Given the description of an element on the screen output the (x, y) to click on. 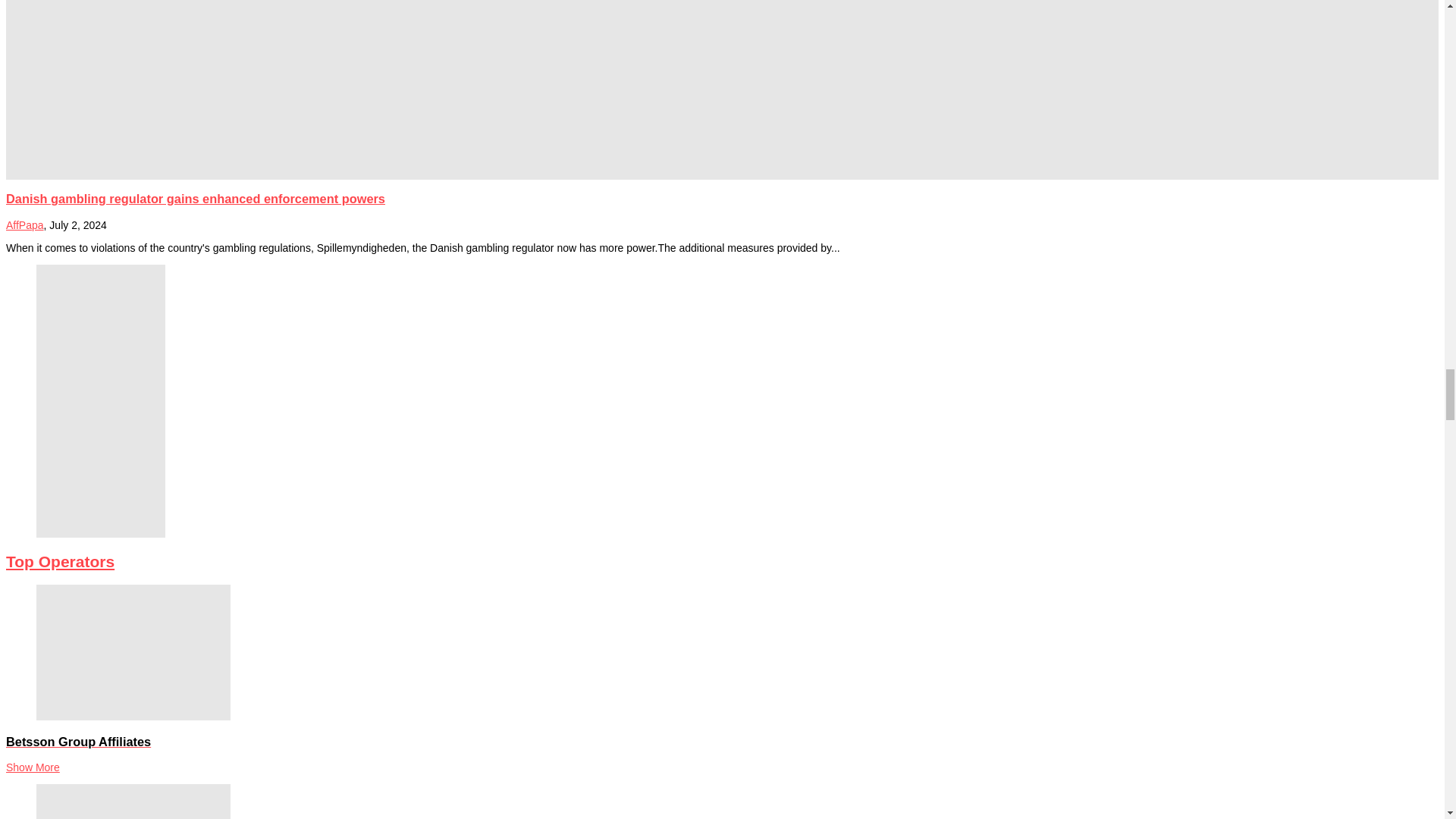
iGaming News Feed (24, 224)
